Given the description of an element on the screen output the (x, y) to click on. 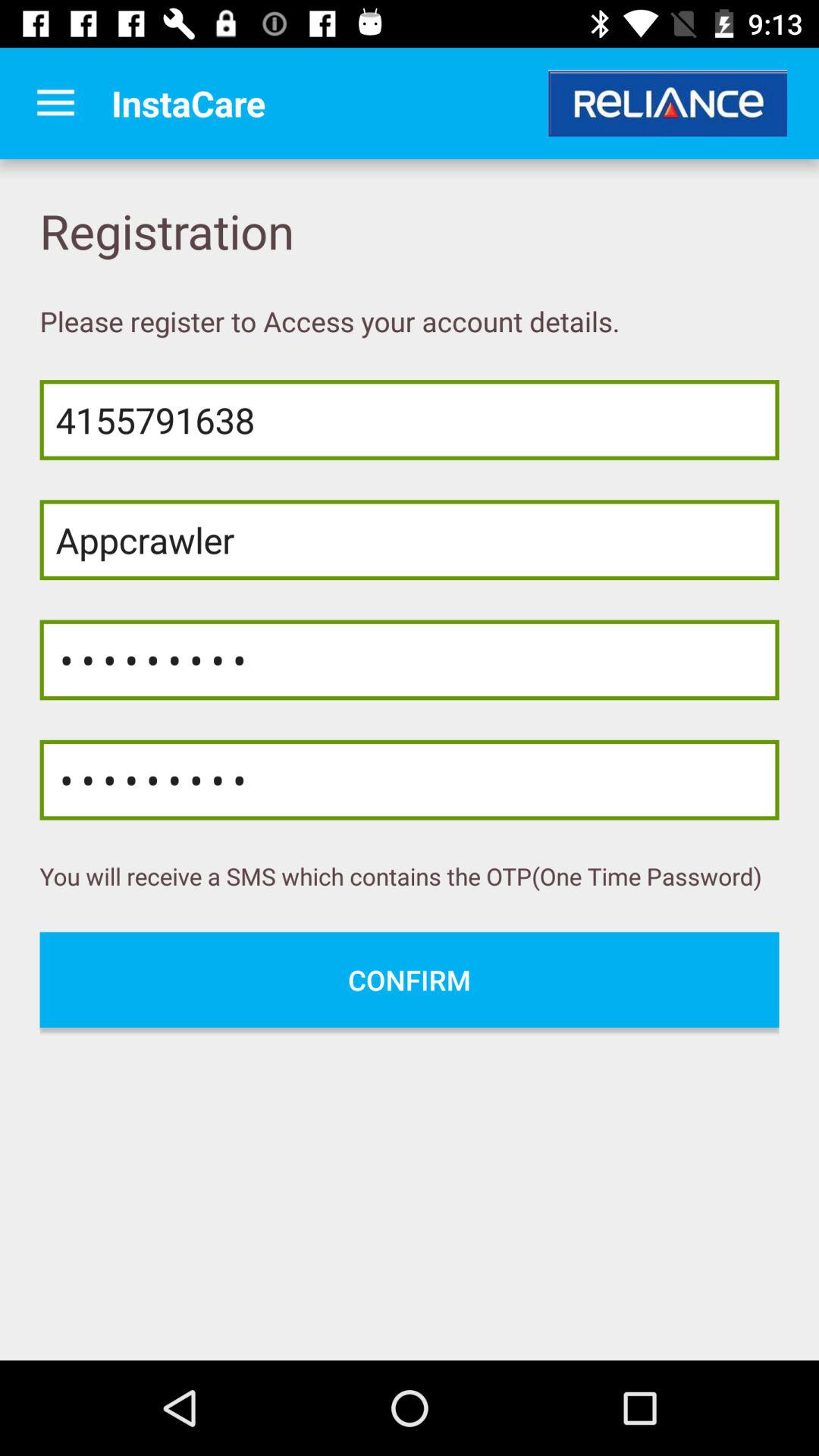
turn on item below you will receive item (409, 979)
